Given the description of an element on the screen output the (x, y) to click on. 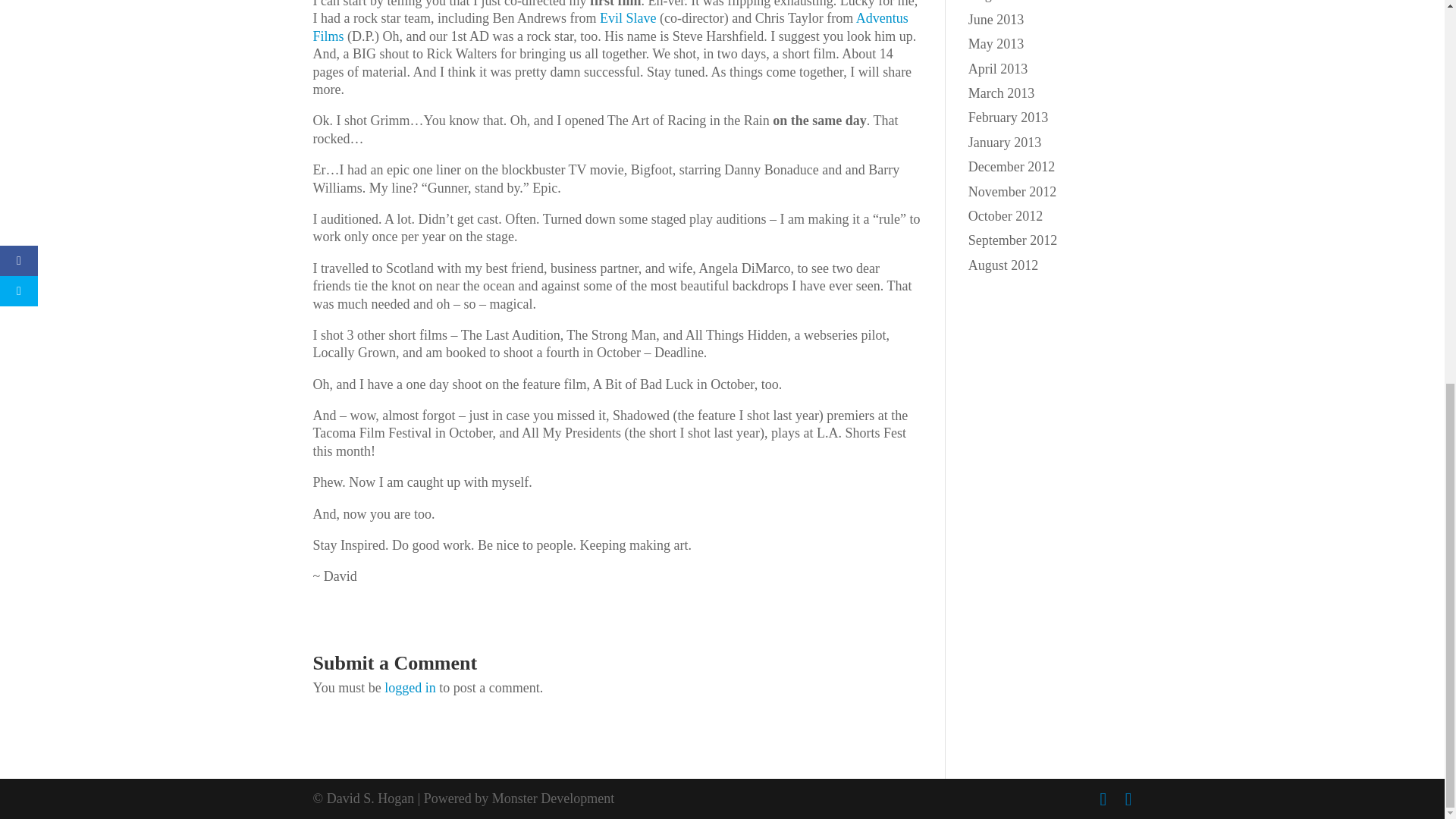
Adventus Films (610, 26)
Evil Slave (627, 17)
logged in (409, 687)
